Given the description of an element on the screen output the (x, y) to click on. 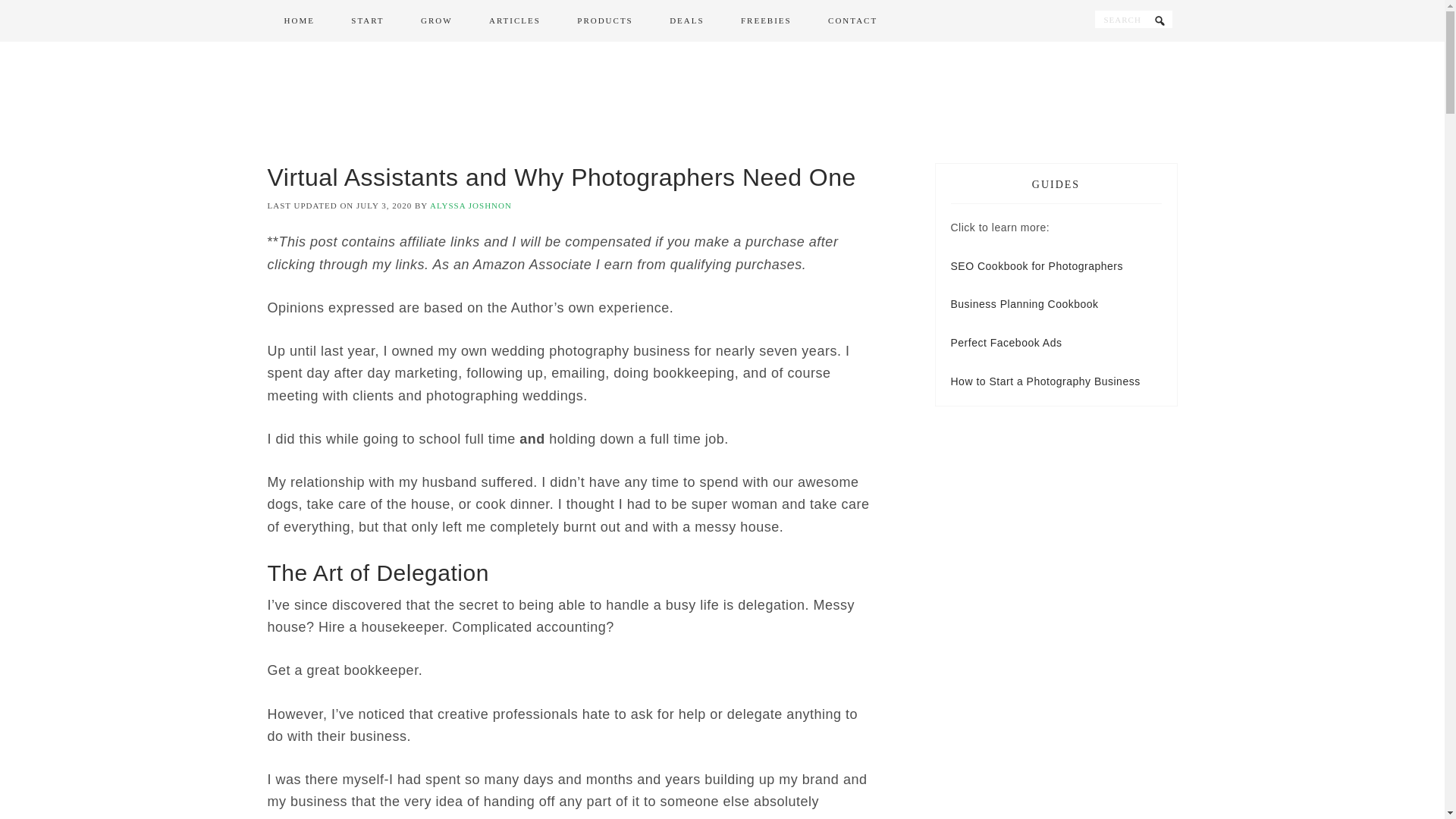
How to Start a Photography Business (1045, 381)
Perfect Facebook Ads (1006, 342)
ALYSSA JOSHNON (470, 204)
ARTICLES (514, 20)
FREEBIES (765, 20)
START (367, 20)
SEO Cookbook for Photographers (1036, 265)
HOME (298, 20)
PRODUCTS (604, 20)
Photography Spark (721, 102)
